Given the description of an element on the screen output the (x, y) to click on. 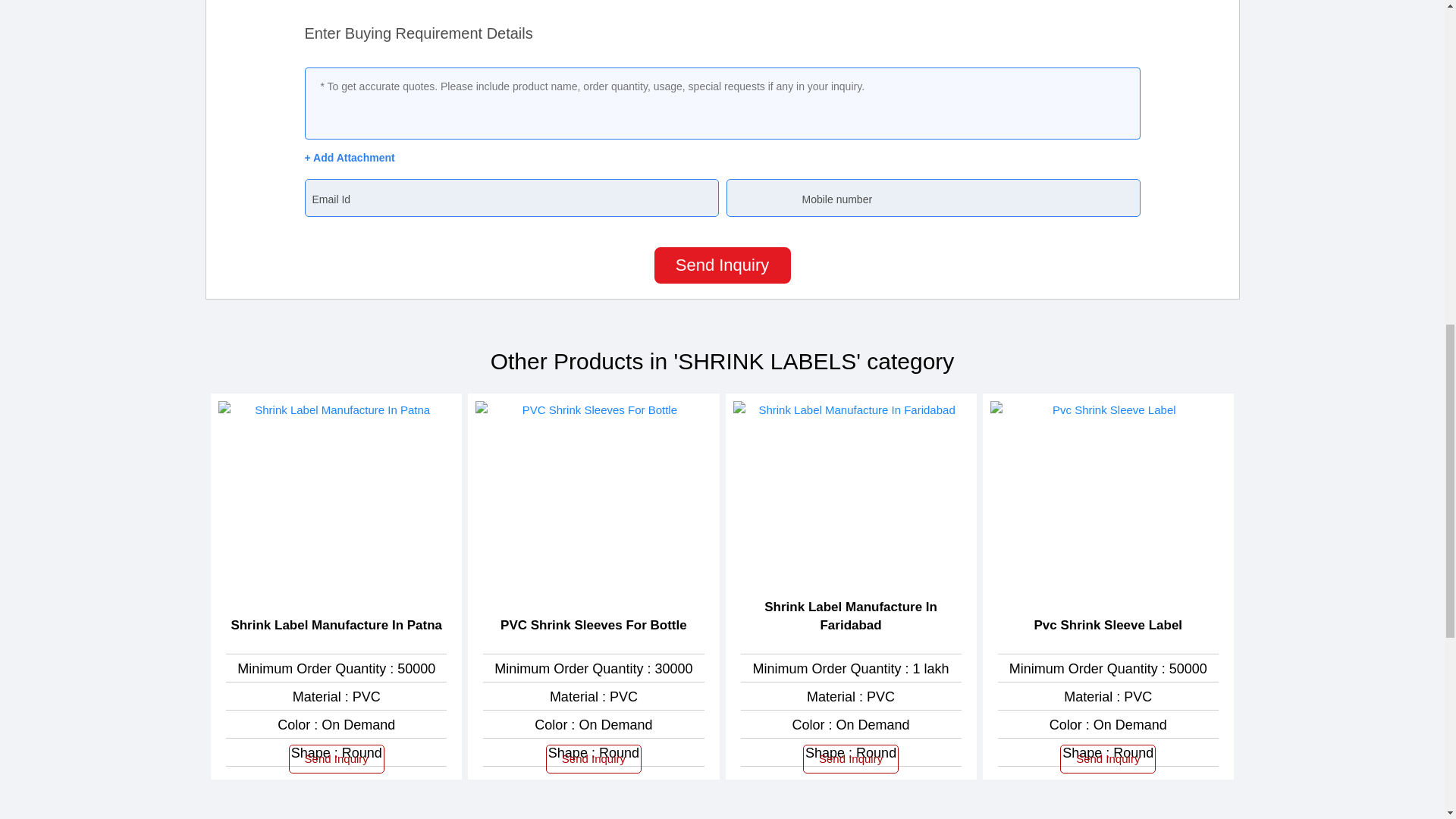
Send Inquiry (721, 265)
